Given the description of an element on the screen output the (x, y) to click on. 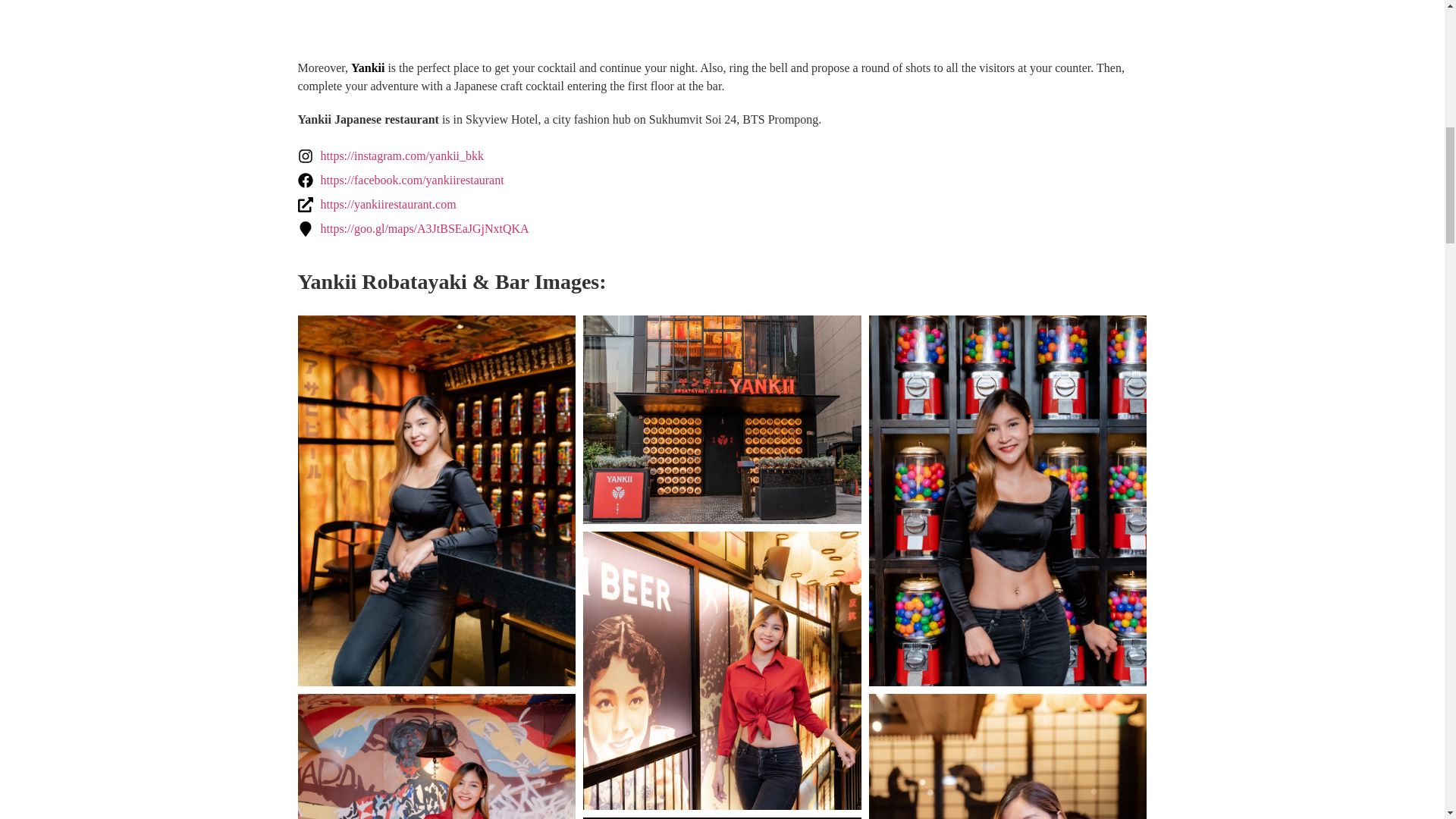
Advertisement (722, 22)
